Given the description of an element on the screen output the (x, y) to click on. 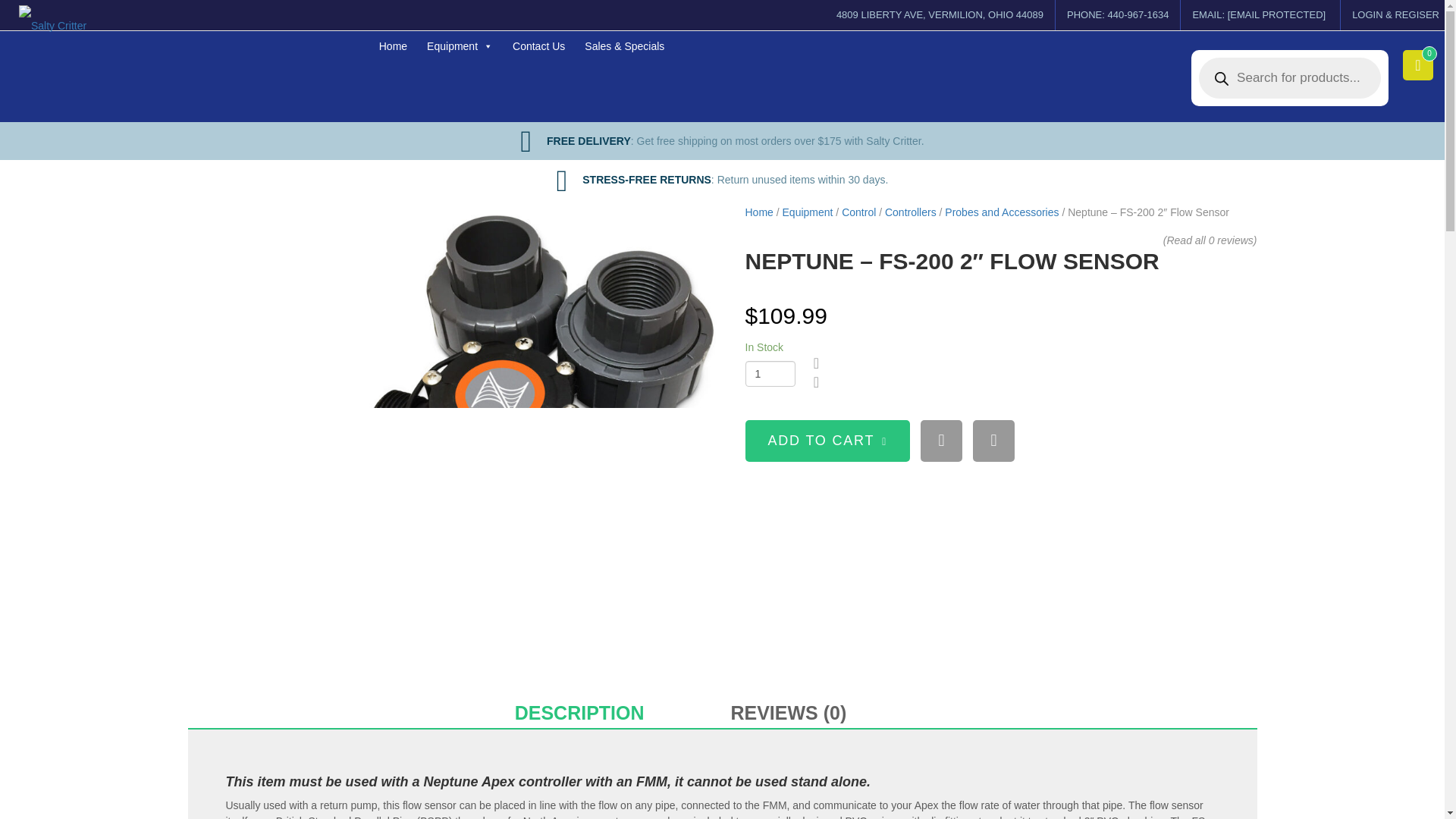
1 (769, 373)
Qty (769, 373)
Equipment (457, 46)
Home (390, 46)
